Given the description of an element on the screen output the (x, y) to click on. 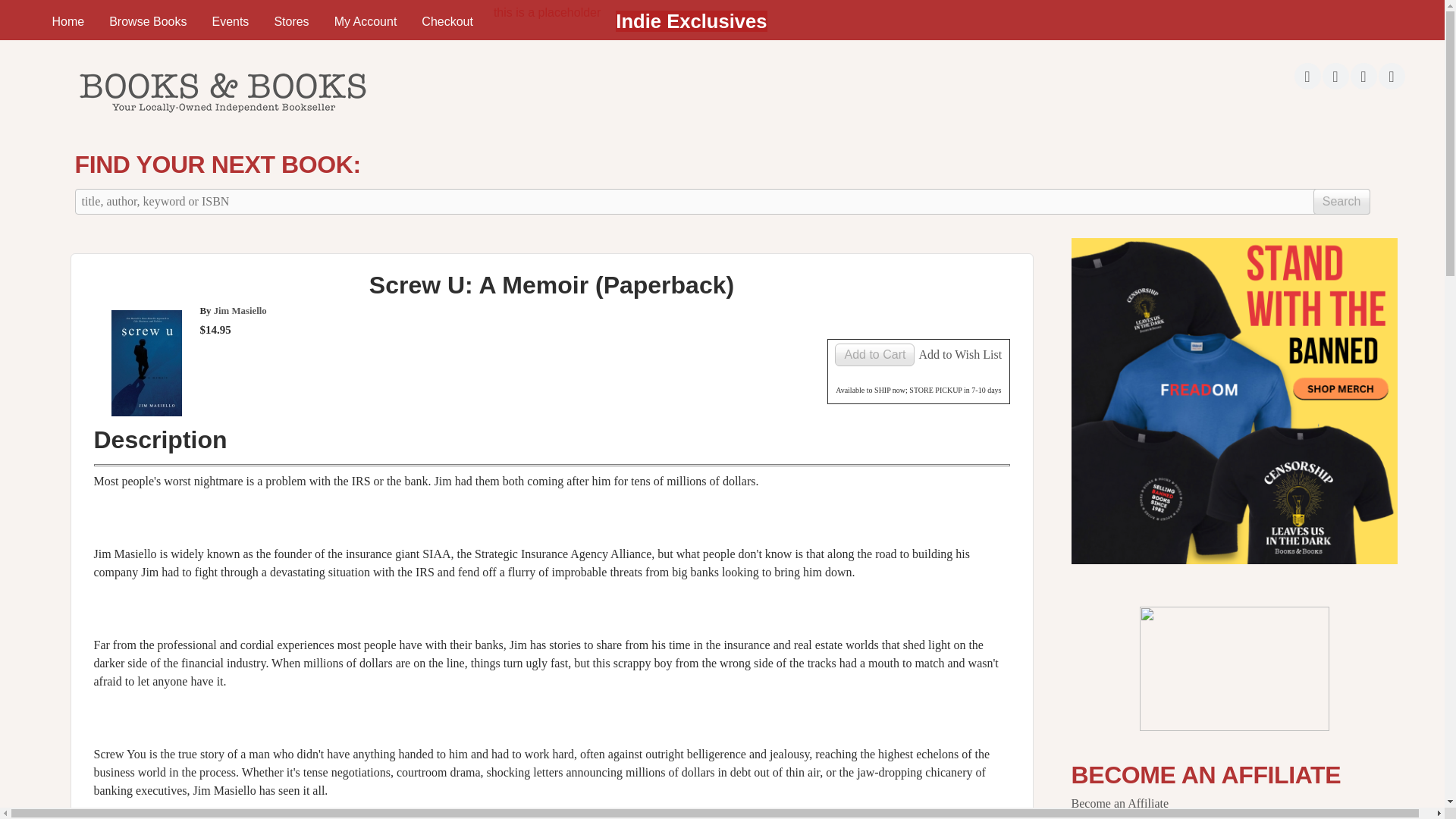
Browse Books (147, 22)
Indie Exclusives (691, 20)
Events (229, 22)
Checkout (446, 22)
My Account (365, 22)
Add to Cart (874, 354)
Jim Masiello (240, 310)
Search (1341, 201)
Become an Affiliate (1119, 802)
Enter the terms you wish to search for. (722, 201)
Stores (291, 22)
Home (67, 22)
Home page (220, 116)
Search (1341, 201)
